Given the description of an element on the screen output the (x, y) to click on. 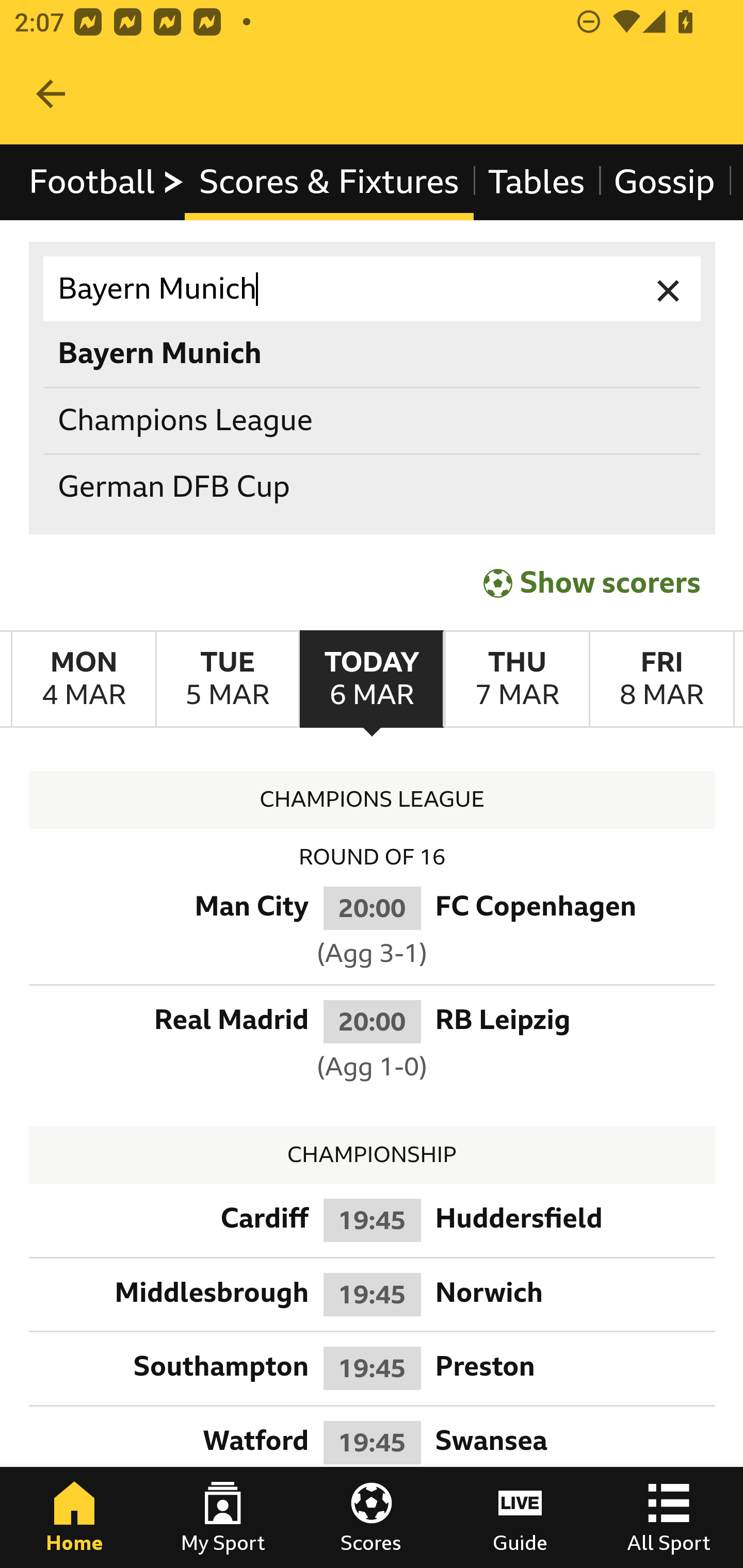
Navigate up (50, 93)
Football  (106, 181)
Scores & Fixtures (329, 181)
Tables (536, 181)
Gossip (664, 181)
Bayern Munich (372, 289)
Clear input (669, 289)
Champions League (372, 419)
German DFB Cup (372, 488)
Show scorers (591, 582)
MondayMarch 4th Monday March 4th (83, 678)
TuesdayMarch 5th Tuesday March 5th (227, 678)
ThursdayMarch 7th Thursday March 7th (516, 678)
FridayMarch 8th Friday March 8th (661, 678)
My Sport (222, 1517)
Scores (371, 1517)
Guide (519, 1517)
All Sport (668, 1517)
